Given the description of an element on the screen output the (x, y) to click on. 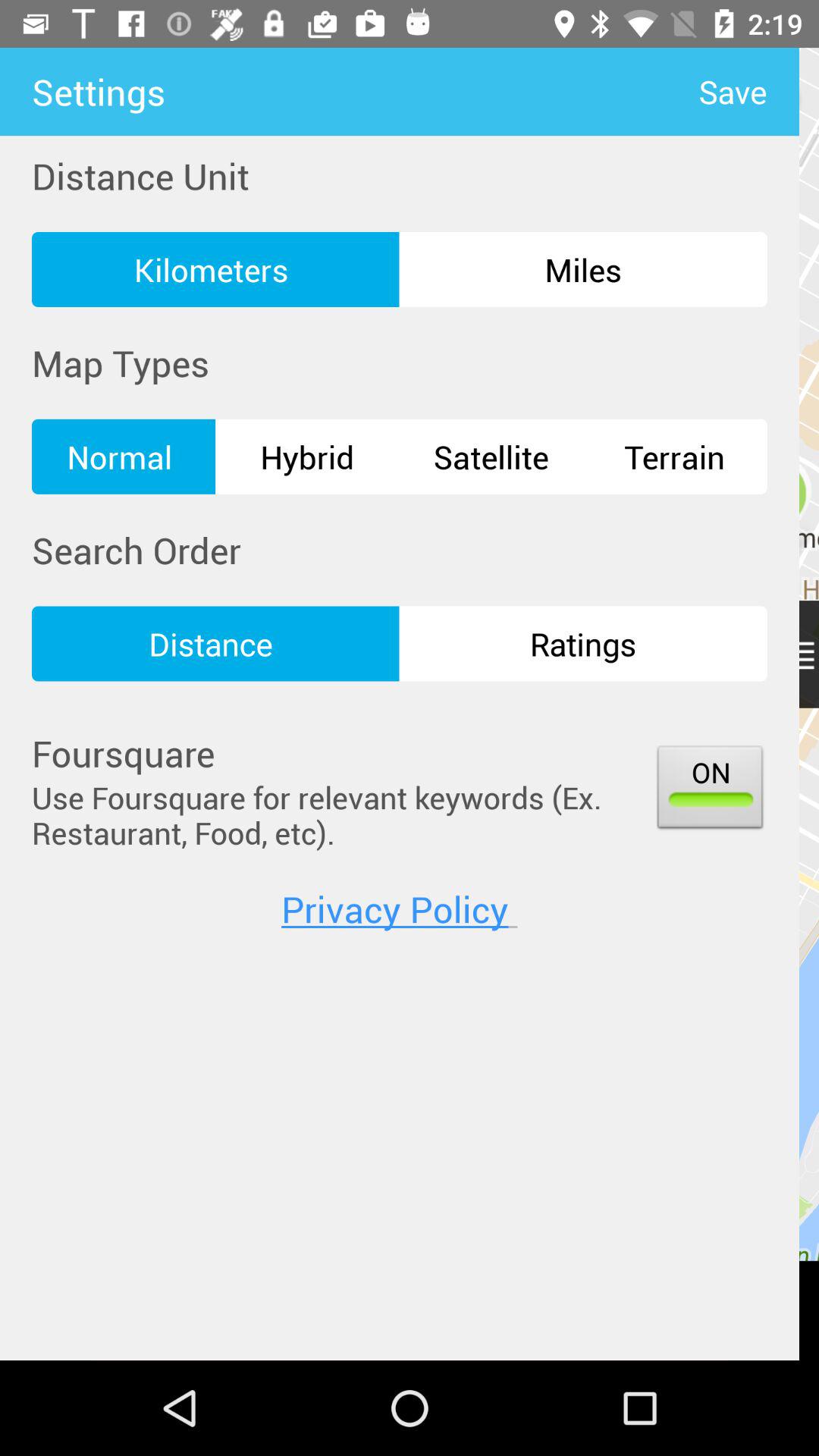
launch icon to the right of normal  item (307, 456)
